Given the description of an element on the screen output the (x, y) to click on. 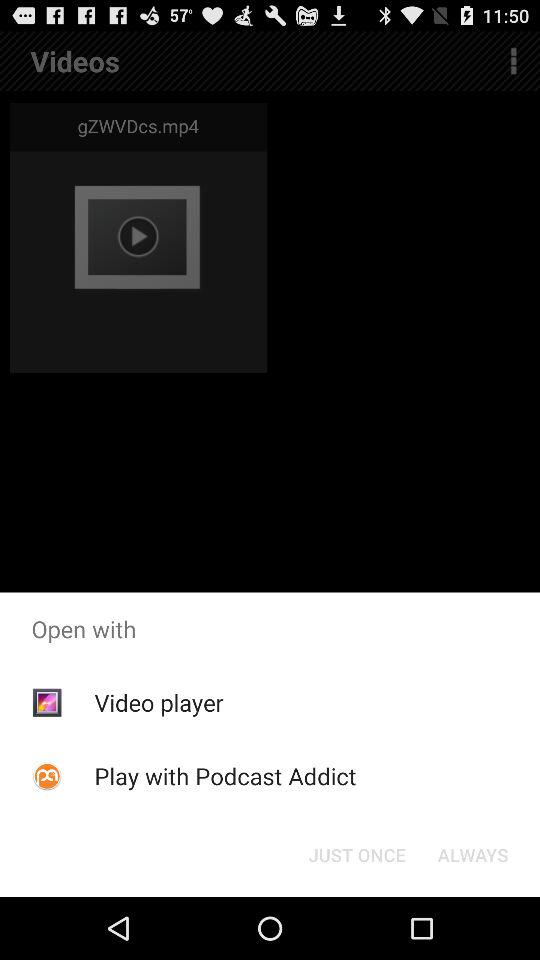
jump until the always icon (472, 854)
